Given the description of an element on the screen output the (x, y) to click on. 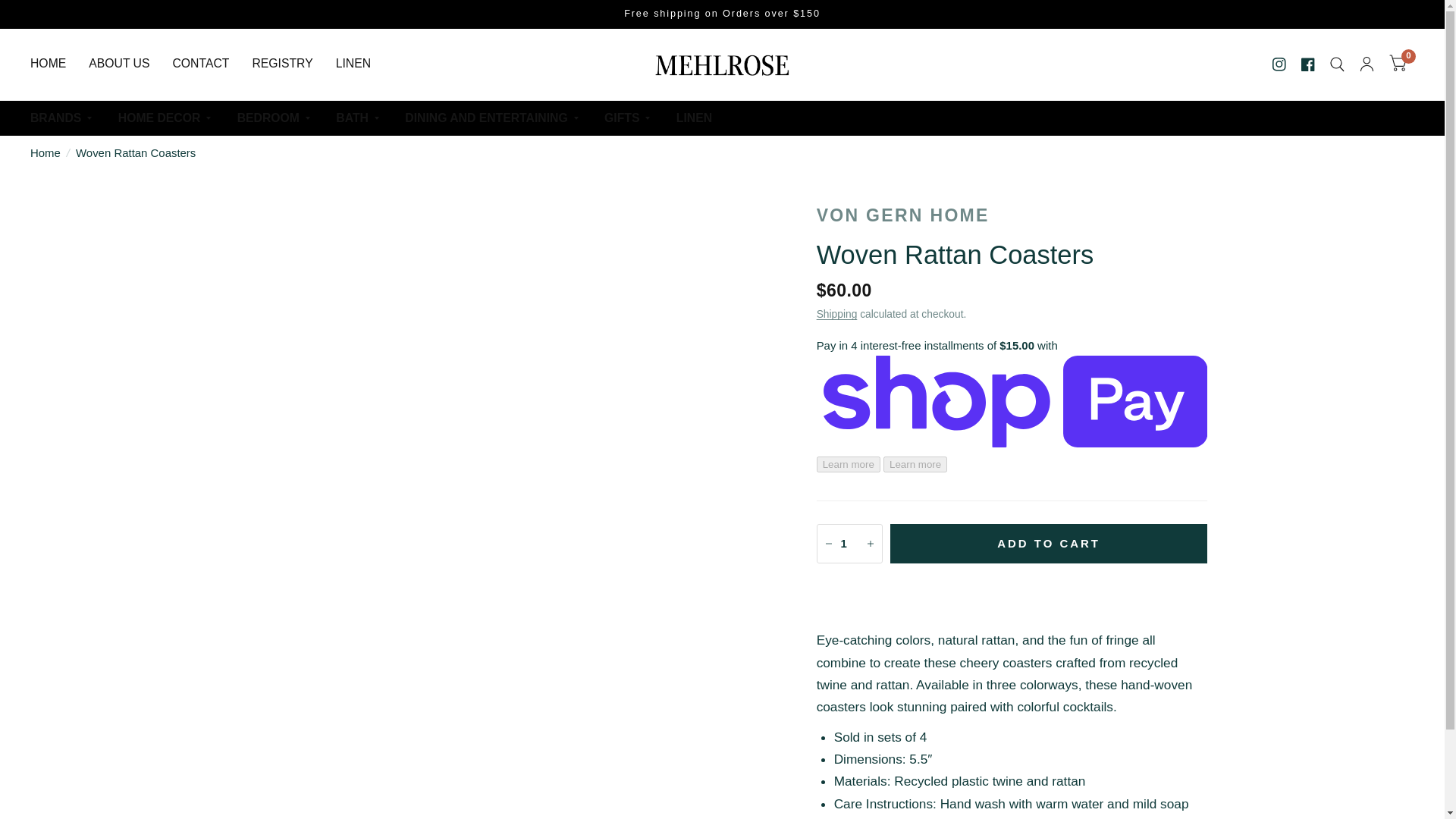
1 (849, 543)
